Given the description of an element on the screen output the (x, y) to click on. 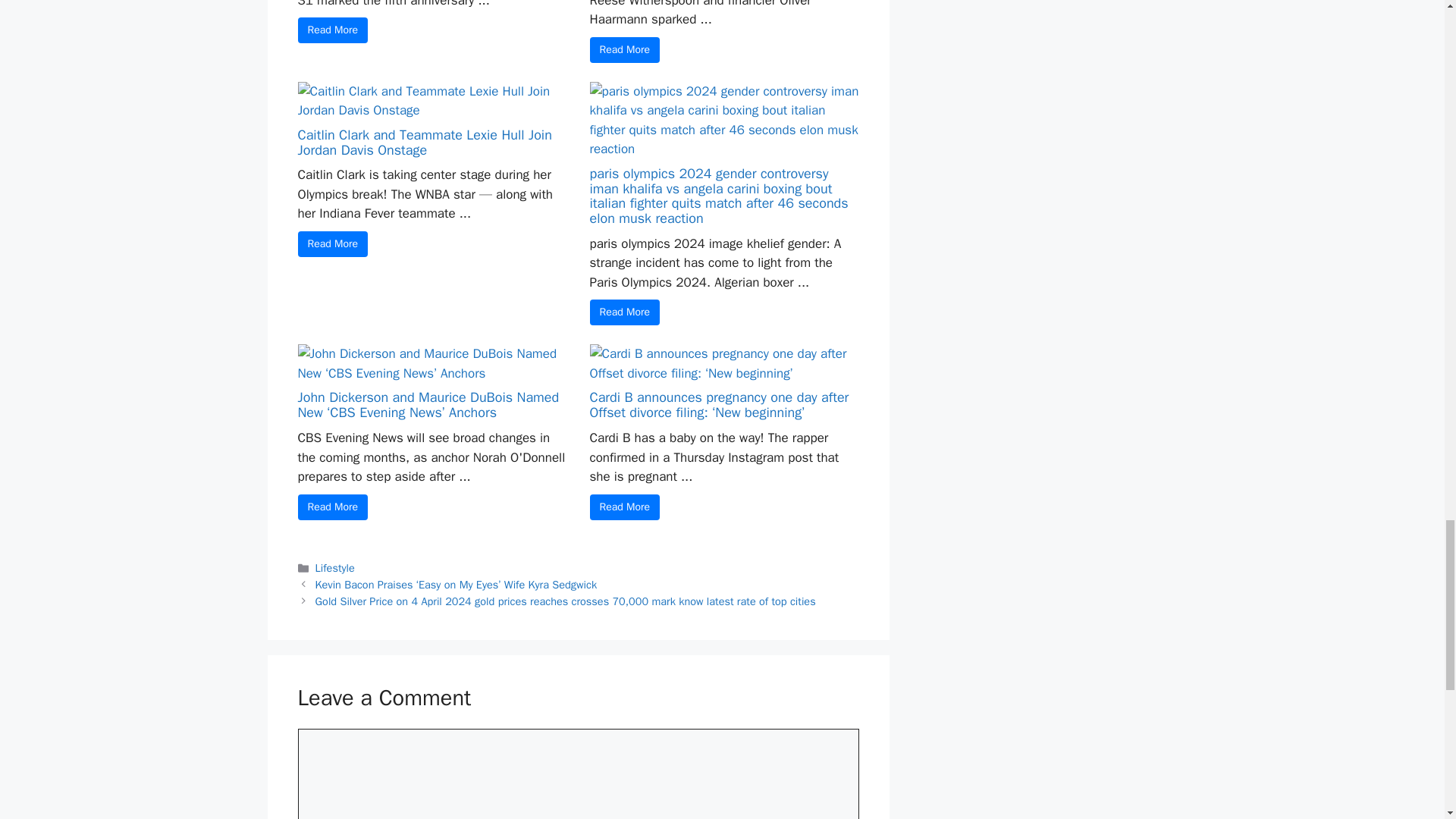
Read More (332, 30)
Read More (625, 49)
